Given the description of an element on the screen output the (x, y) to click on. 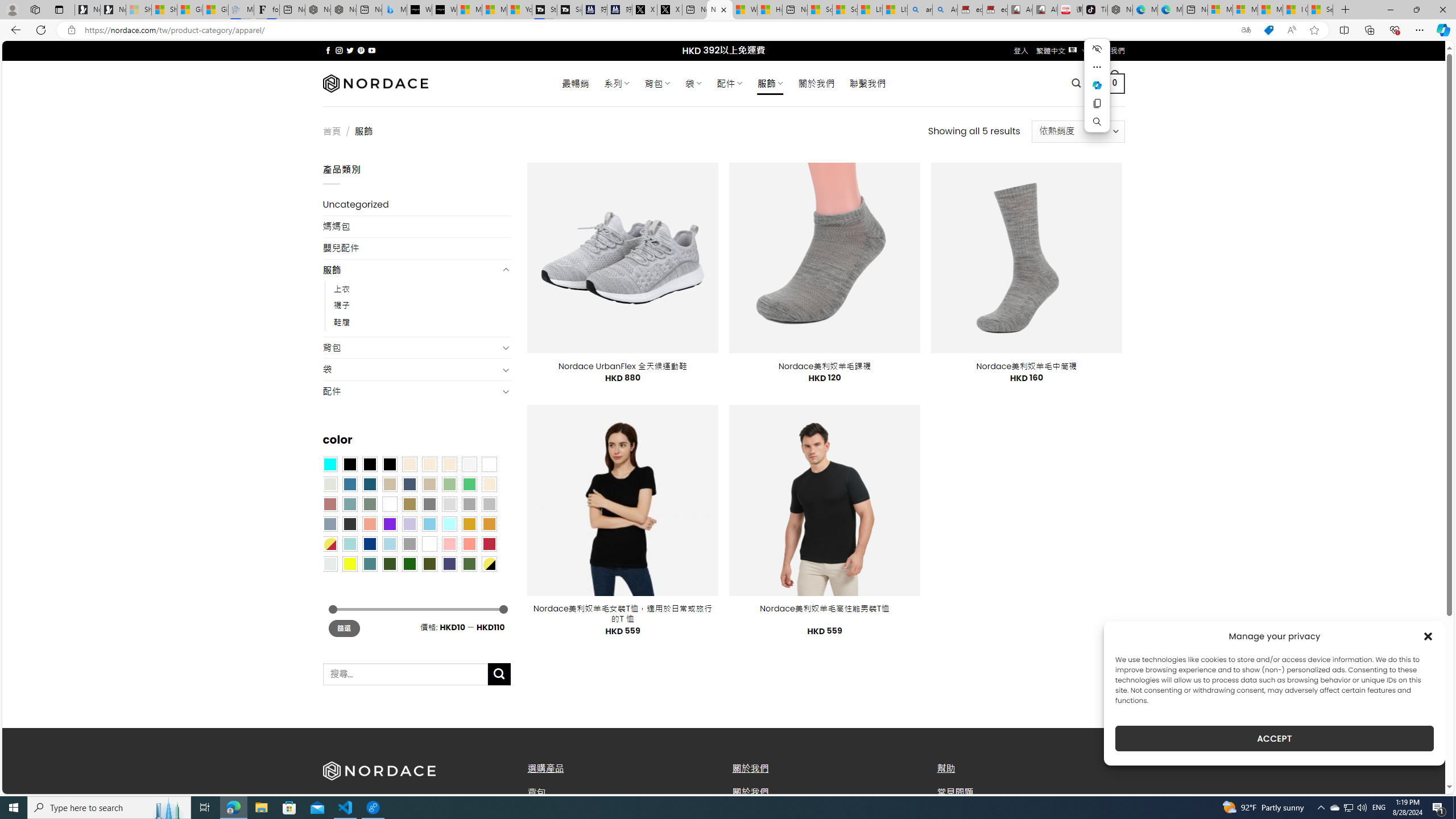
Huge shark washes ashore at New York City beach | Watch (769, 9)
Address and search bar (658, 29)
Streaming Coverage | T3 (544, 9)
Microsoft account | Privacy (1244, 9)
Split screen (1344, 29)
I Gained 20 Pounds of Muscle in 30 Days! | Watch (1295, 9)
